Given the description of an element on the screen output the (x, y) to click on. 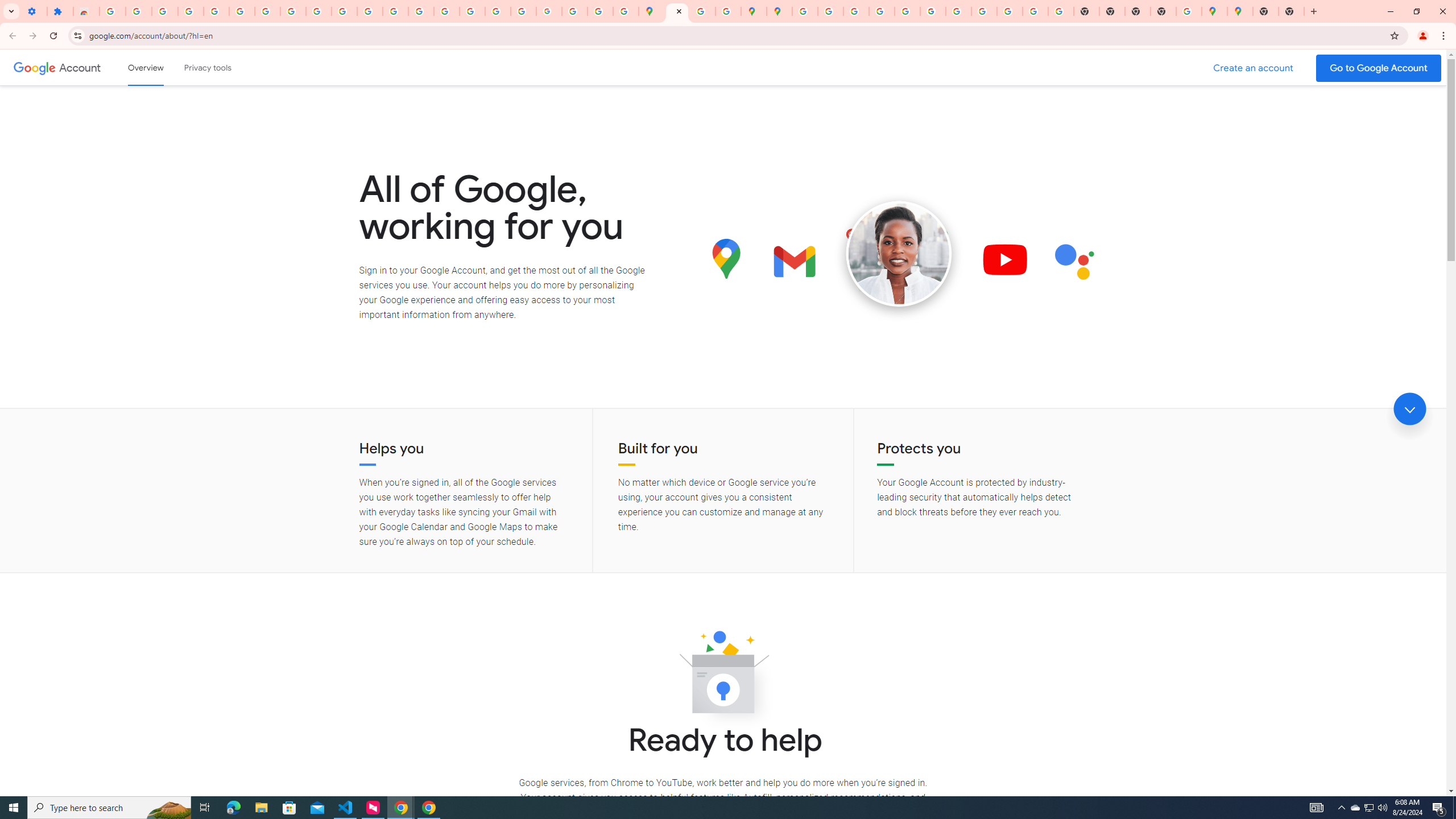
YouTube (344, 11)
New Tab (1265, 11)
Google Maps (651, 11)
Create a Google Account (1253, 67)
Google Account Help (266, 11)
Go to your Google Account (1378, 67)
Google Account overview (145, 67)
Privacy Help Center - Policies Help (881, 11)
Use Google Maps in Space - Google Maps Help (1188, 11)
